Given the description of an element on the screen output the (x, y) to click on. 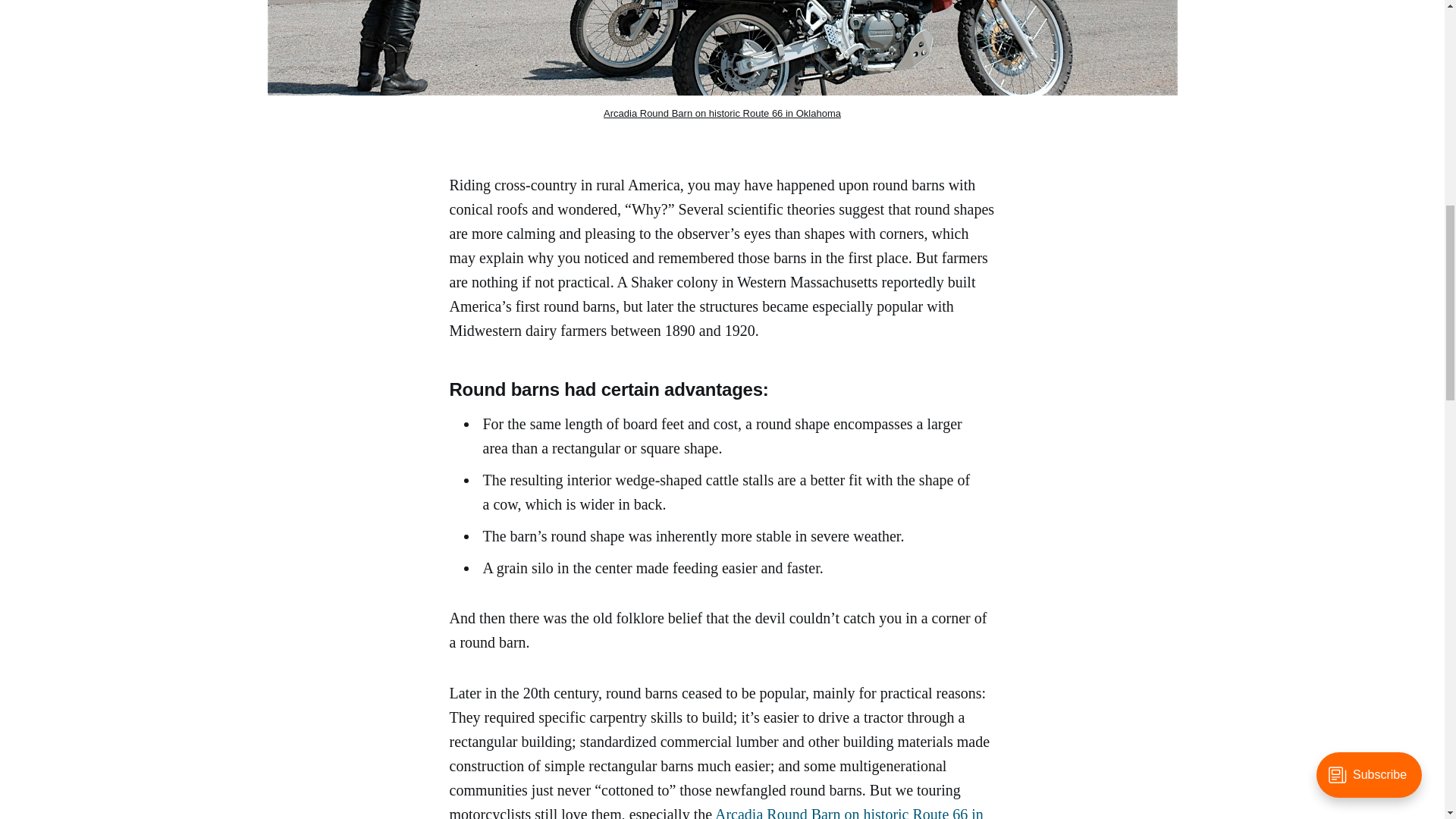
Arcadia Round Barn on historic Route 66 in Oklahoma (715, 812)
Arcadia Round Barn on historic Route 66 in Oklahoma (722, 112)
